Given the description of an element on the screen output the (x, y) to click on. 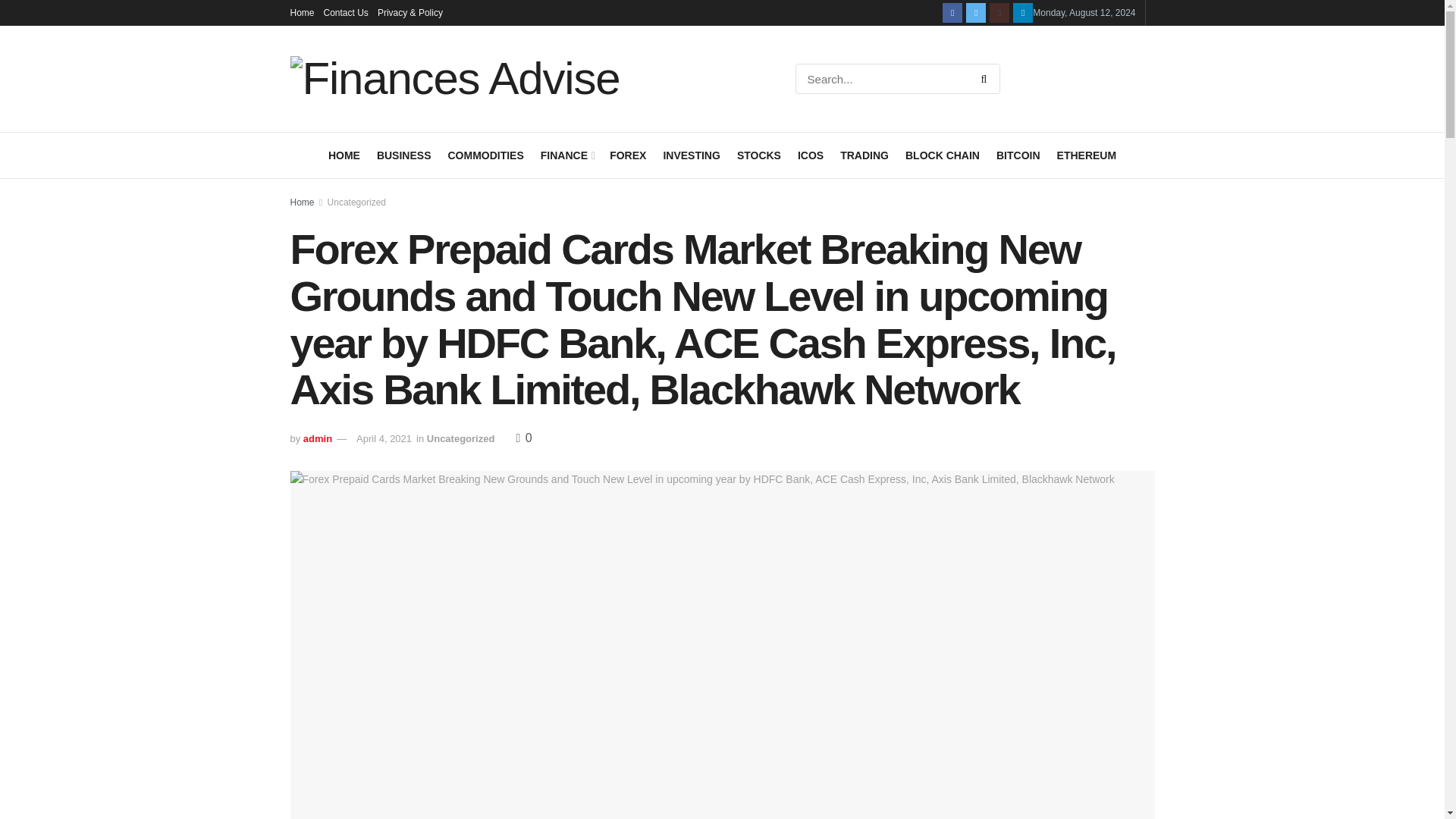
BLOCK CHAIN (942, 155)
BITCOIN (1018, 155)
Home (301, 12)
TRADING (864, 155)
INVESTING (690, 155)
FINANCE (566, 155)
Contact Us (345, 12)
COMMODITIES (484, 155)
STOCKS (758, 155)
